Given the description of an element on the screen output the (x, y) to click on. 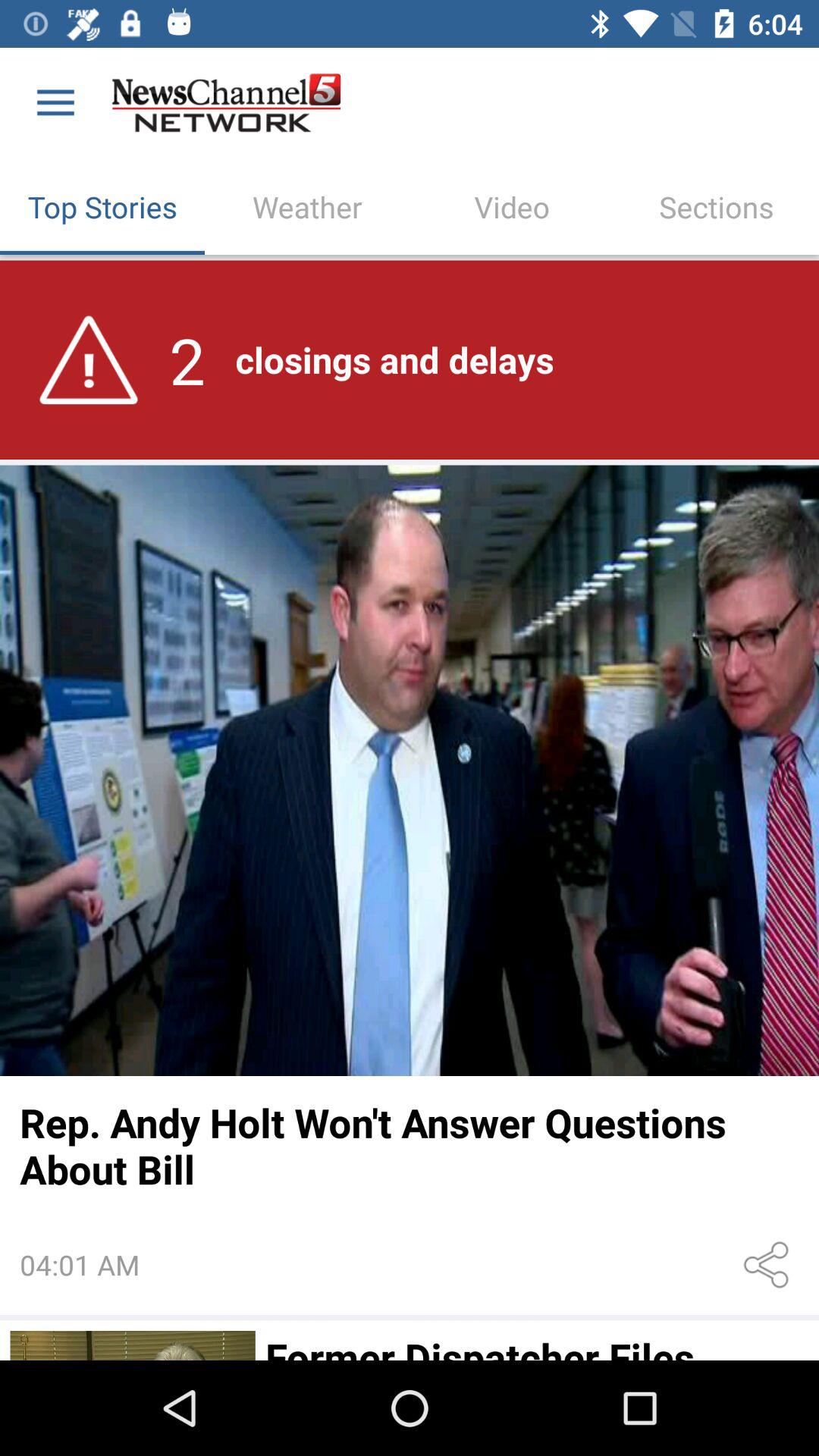
tap the icon above top stories item (55, 103)
